Given the description of an element on the screen output the (x, y) to click on. 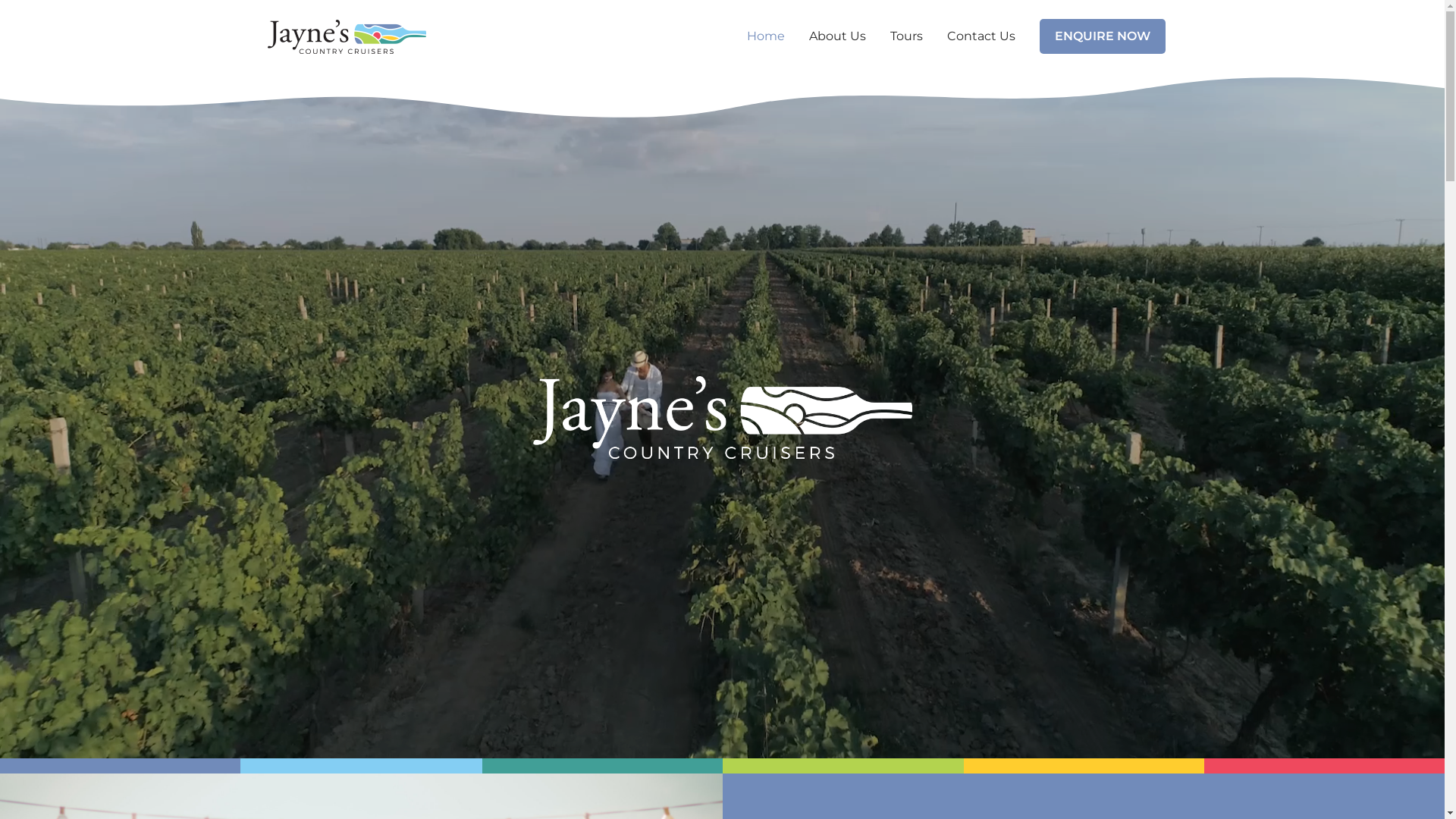
ENQUIRE NOW Element type: text (1101, 35)
Contact Us Element type: text (980, 36)
Tours Element type: text (906, 36)
Home Element type: text (765, 36)
About Us Element type: text (836, 36)
201105_JCC_WhiteLogo_v01 Element type: hover (721, 417)
